Given the description of an element on the screen output the (x, y) to click on. 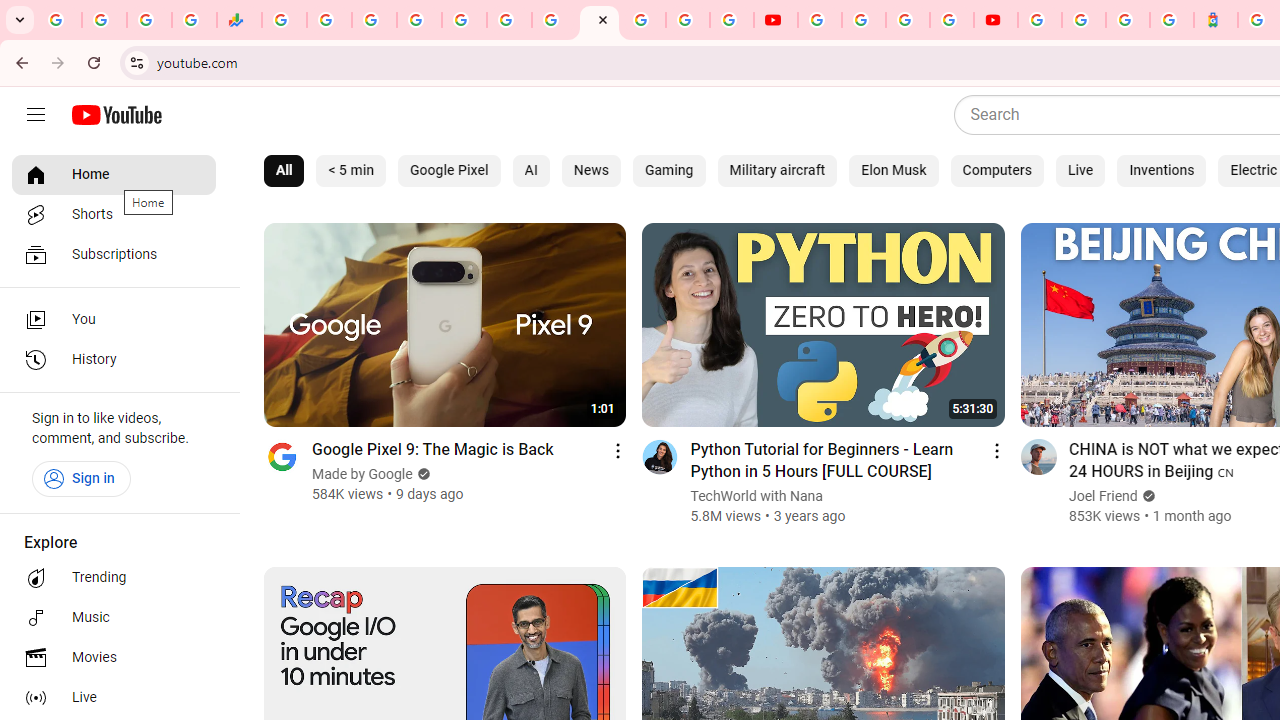
Go to channel (1038, 456)
TechWorld with Nana (757, 496)
Action menu (996, 449)
Google Account Help (863, 20)
Create your Google Account (907, 20)
Android TV Policies and Guidelines - Transparency Center (554, 20)
Live (113, 697)
YouTube (599, 20)
< 5 min (351, 170)
AI (531, 170)
News (590, 170)
